Given the description of an element on the screen output the (x, y) to click on. 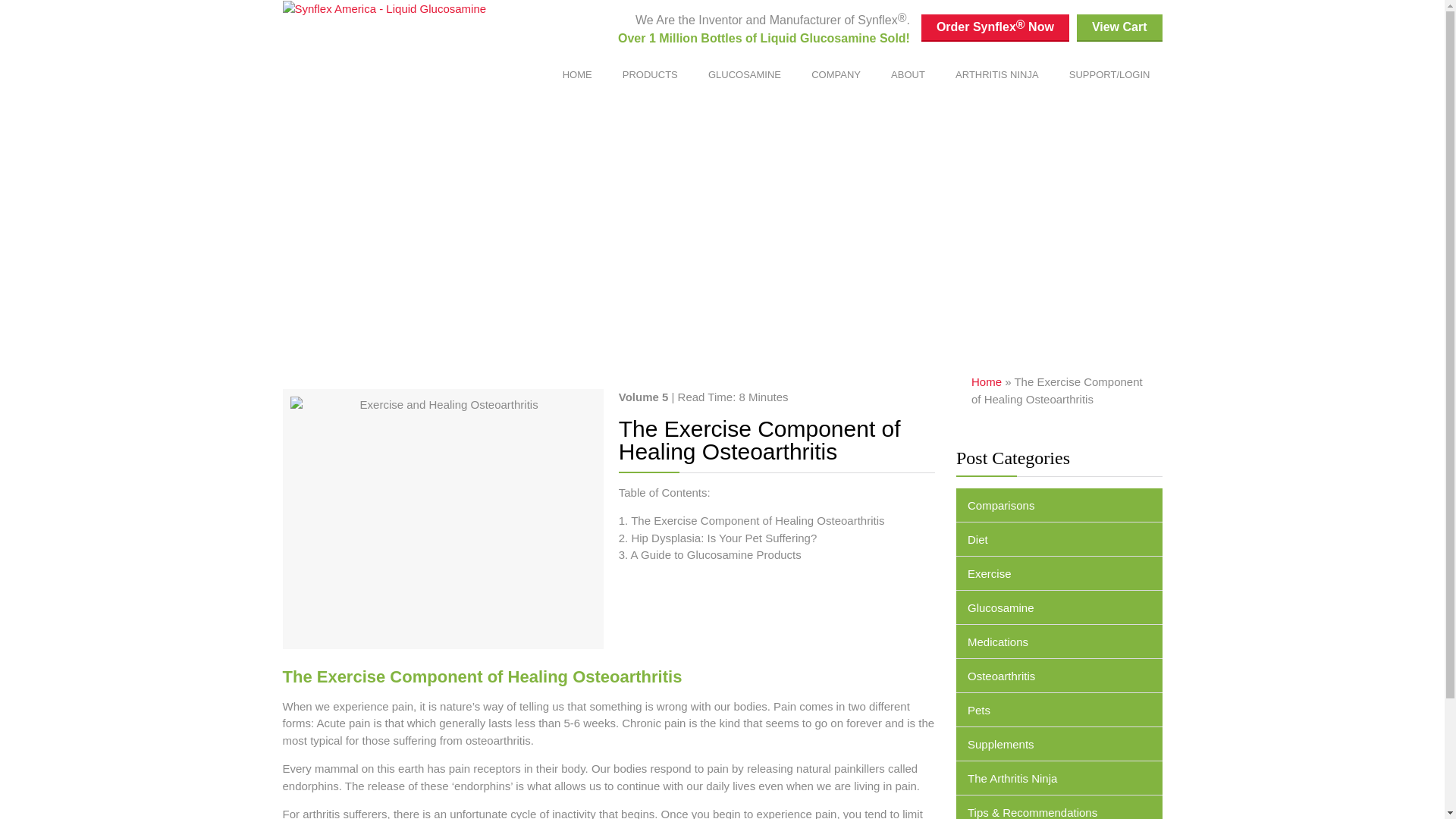
PRODUCTS (650, 74)
HOME (577, 74)
ARTHRITIS NINJA (997, 74)
ABOUT (908, 74)
COMPANY (836, 74)
GLUCOSAMINE (744, 74)
View Cart (1119, 27)
